Given the description of an element on the screen output the (x, y) to click on. 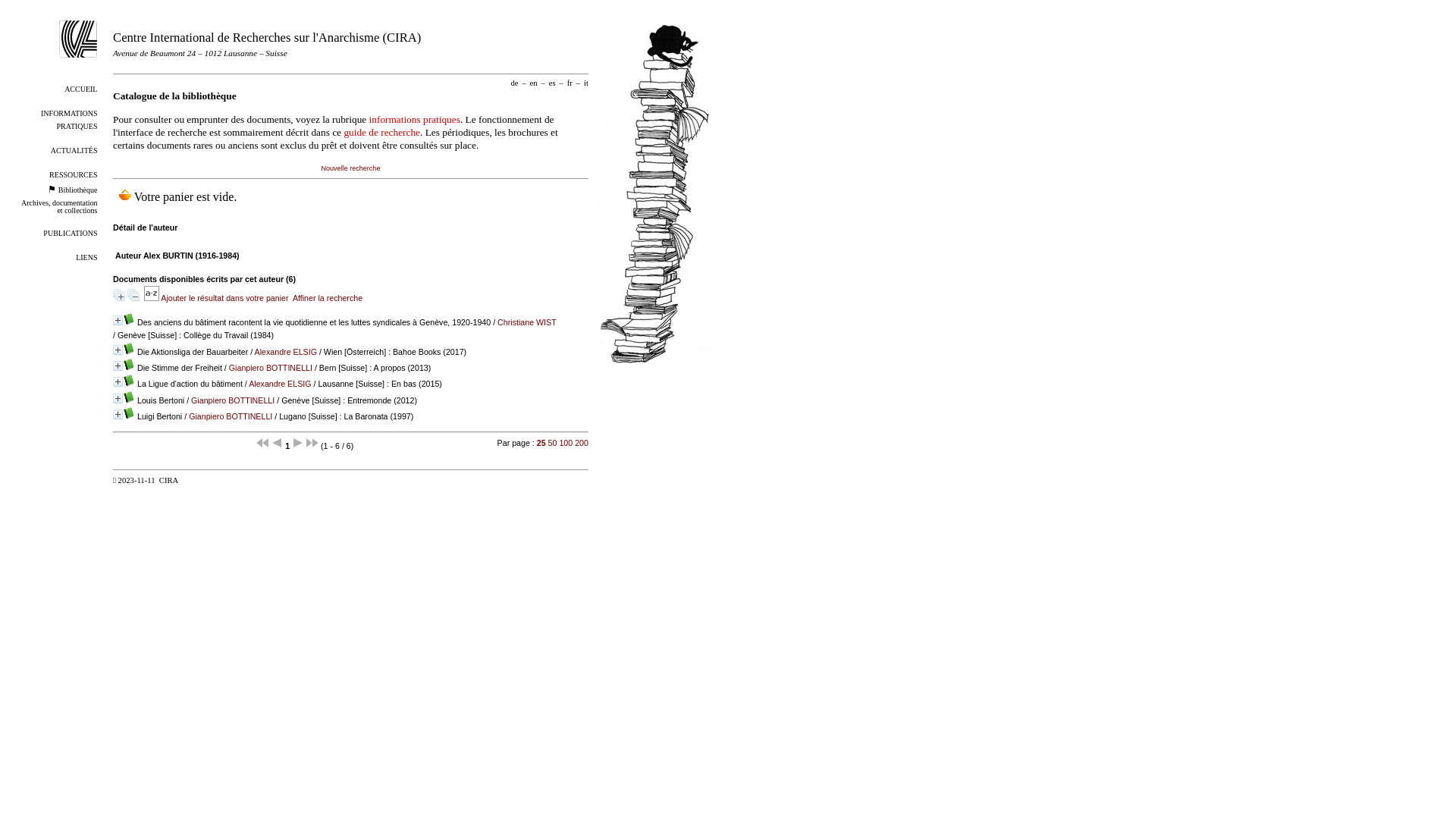
Affiner la recherche Element type: text (327, 297)
Gianpiero BOTTINELLI Element type: text (232, 399)
ressources Element type: text (73, 173)
it Element type: text (585, 82)
Tris disponibles Element type: hover (152, 297)
25 Element type: text (541, 442)
Alexandre ELSIG Element type: text (279, 383)
Gianpiero BOTTINELLI Element type: text (230, 415)
informations pratiques Element type: text (68, 118)
guide de recherche Element type: text (381, 132)
Christiane WIST Element type: text (526, 321)
liens Element type: text (86, 256)
accueil Element type: text (80, 87)
Gianpiero BOTTINELLI Element type: text (270, 367)
de Element type: text (513, 82)
200 Element type: text (581, 442)
es Element type: text (552, 82)
en Element type: text (533, 82)
valider Element type: text (196, 480)
Nouvelle recherche Element type: text (349, 168)
Centre International de Recherches sur l'Anarchisme (CIRA) Element type: text (266, 37)
50 Element type: text (552, 442)
100 Element type: text (565, 442)
Archives, documentation et collections Element type: text (59, 206)
Alexandre ELSIG Element type: text (285, 351)
informations pratiques Element type: text (414, 119)
publications Element type: text (70, 231)
